Given the description of an element on the screen output the (x, y) to click on. 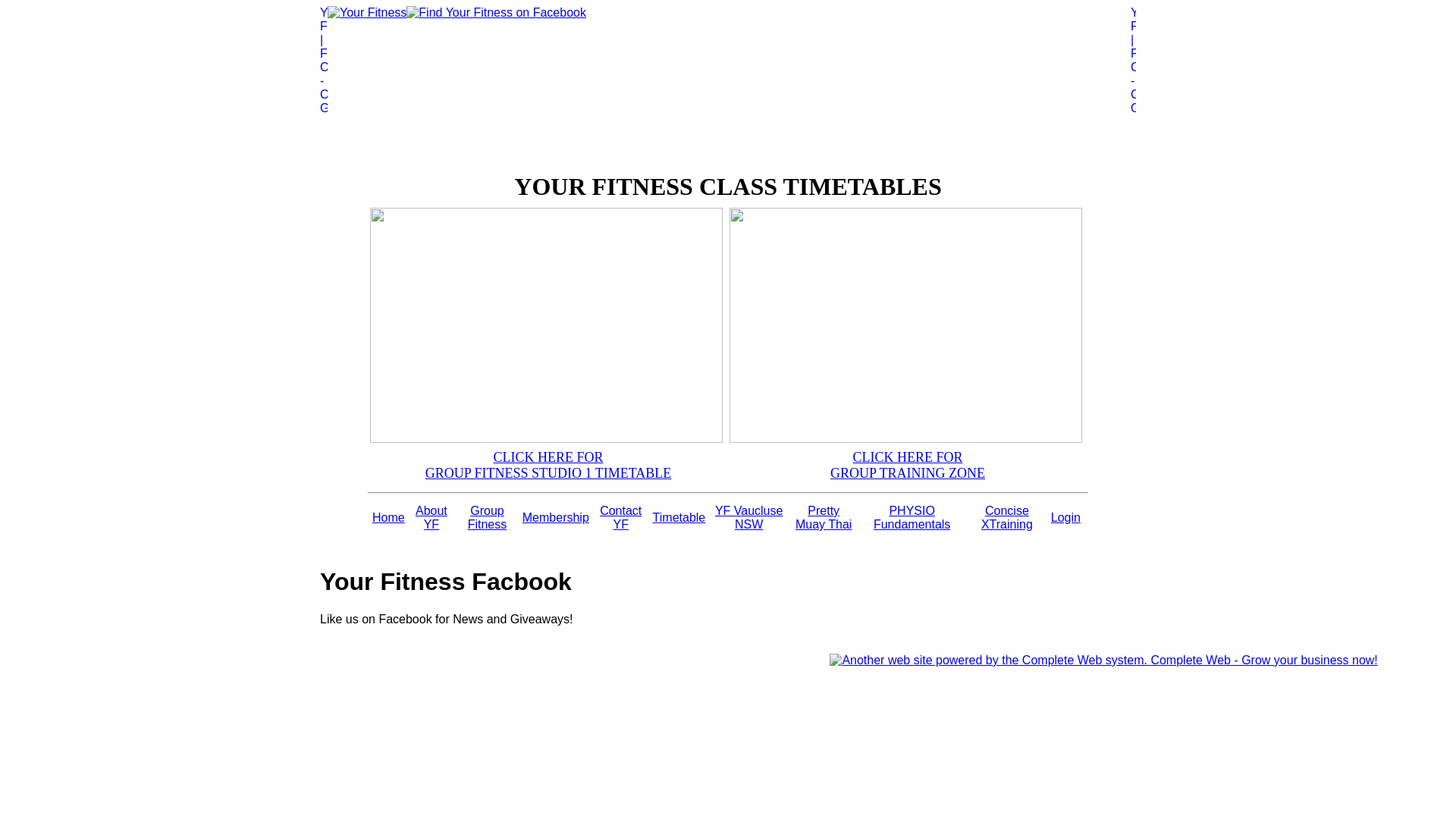
Membership Element type: text (555, 517)
CLICK HERE FOR
GROUP FITNESS STUDIO 1 TIMETABLE Element type: text (548, 464)
Home Element type: text (388, 517)
Contact YF Element type: text (620, 517)
PHYSIO Fundamentals Element type: text (911, 517)
Timetable Element type: text (679, 517)
CLICK HERE FOR
GROUP TRAINING ZONE Element type: text (907, 464)
Pretty Muay Thai Element type: text (823, 517)
Your Fitness | Fitness Cairns - Cairns Gyms Element type: hover (1132, 86)
About YF Element type: text (431, 517)
YF Vaucluse NSW Element type: text (749, 517)
Find Your Fitness on Facebook Element type: hover (496, 12)
Your Fitness | Fitness Cairns - Cairns Gyms Element type: hover (323, 86)
Login Element type: text (1065, 517)
Your Fitness Element type: hover (366, 12)
Concise XTraining Element type: text (1006, 517)
Group Fitness Element type: text (487, 517)
